Given the description of an element on the screen output the (x, y) to click on. 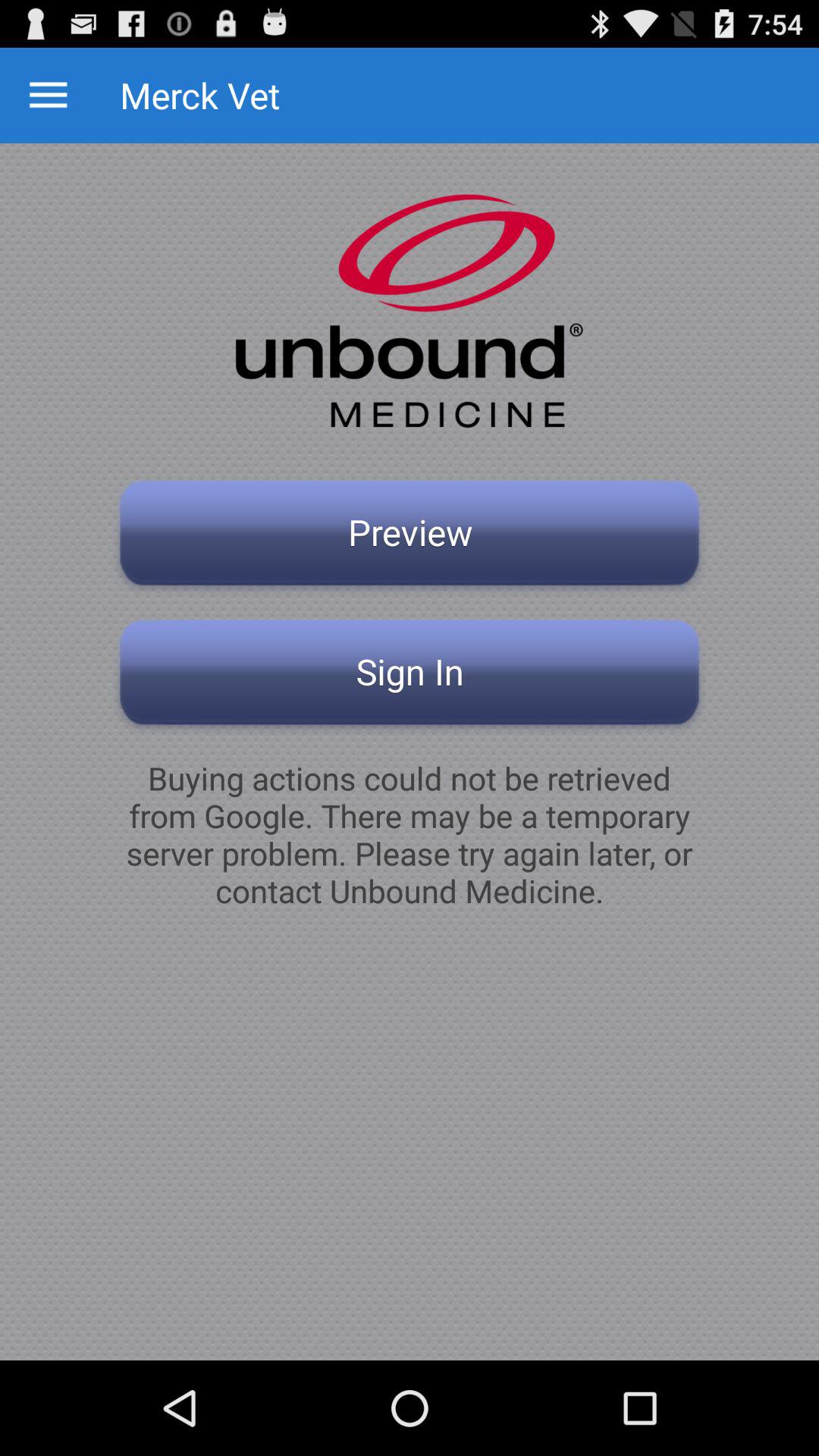
scroll to sign in (409, 676)
